Given the description of an element on the screen output the (x, y) to click on. 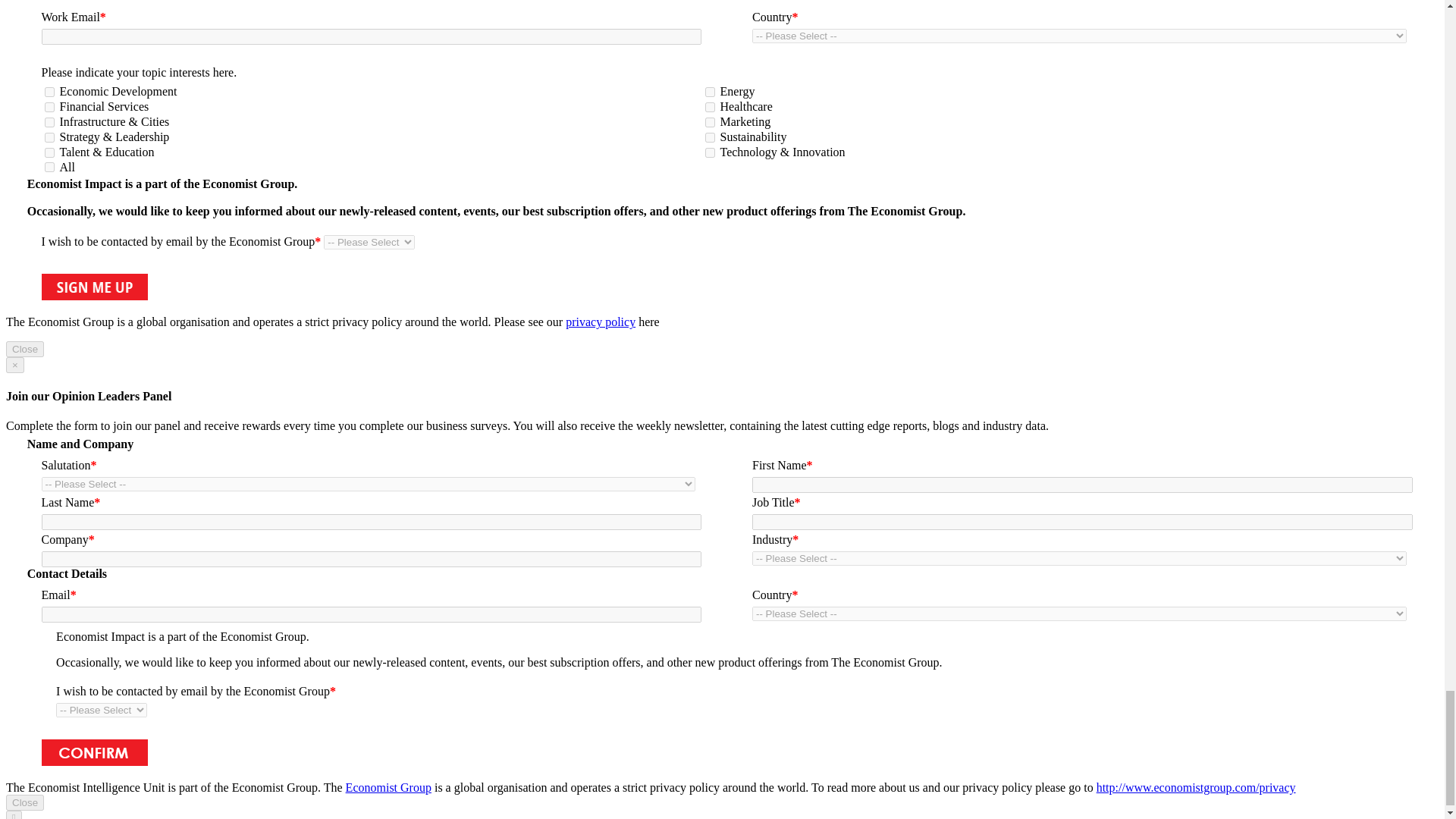
on (48, 137)
on (48, 122)
on (48, 153)
on (48, 166)
on (709, 153)
on (709, 137)
on (709, 122)
on (48, 107)
on (48, 91)
on (709, 107)
SIGN ME UP (93, 286)
on (709, 91)
